Given the description of an element on the screen output the (x, y) to click on. 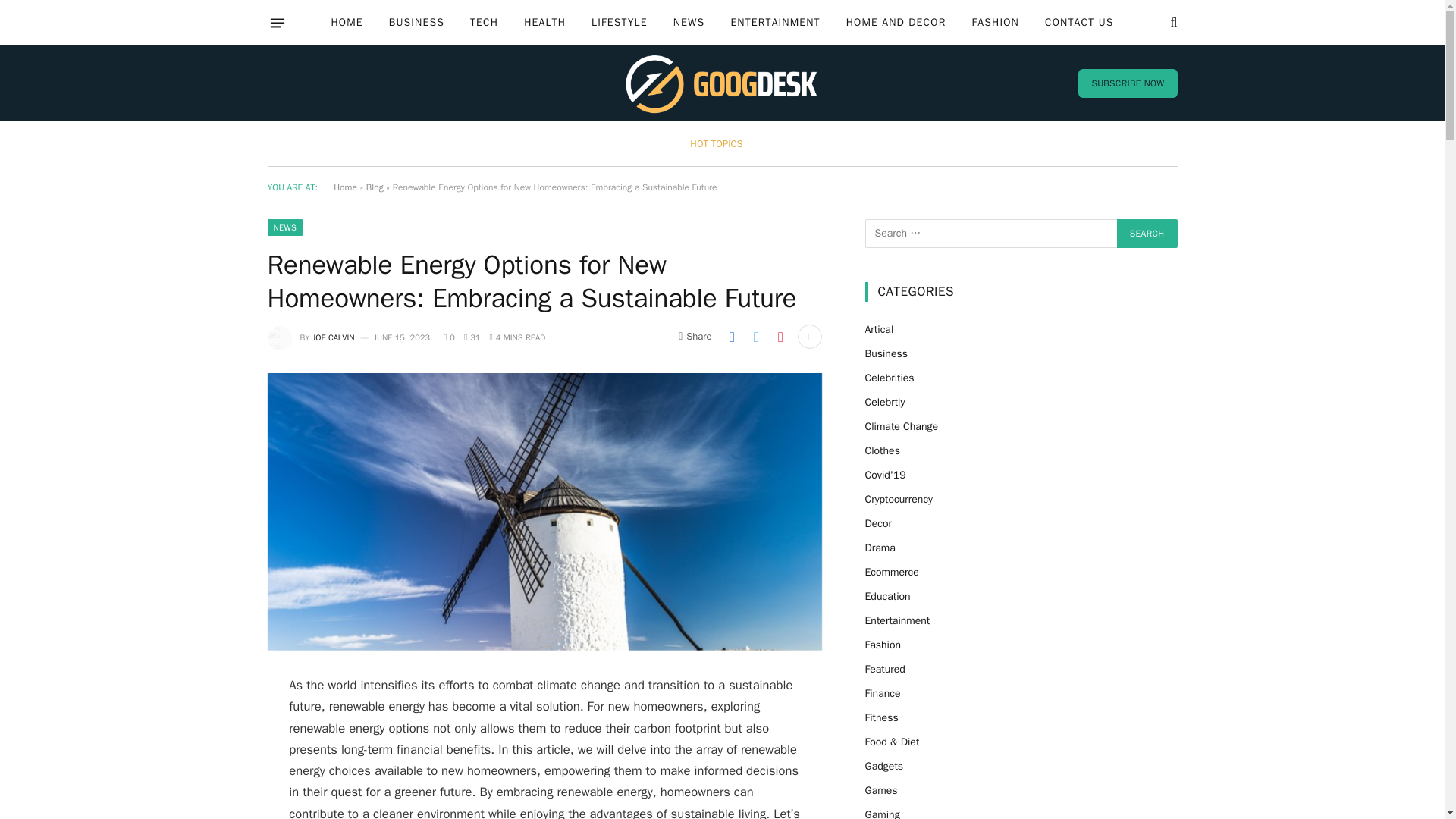
Posts by Joe Calvin (334, 337)
Share on Pinterest (780, 336)
Home (344, 186)
Search (1146, 233)
Share on Facebook (731, 336)
HOME AND DECOR (895, 22)
FASHION (994, 22)
31 Article Views (472, 337)
NEWS (689, 22)
SUBSCRIBE NOW (1127, 82)
